Given the description of an element on the screen output the (x, y) to click on. 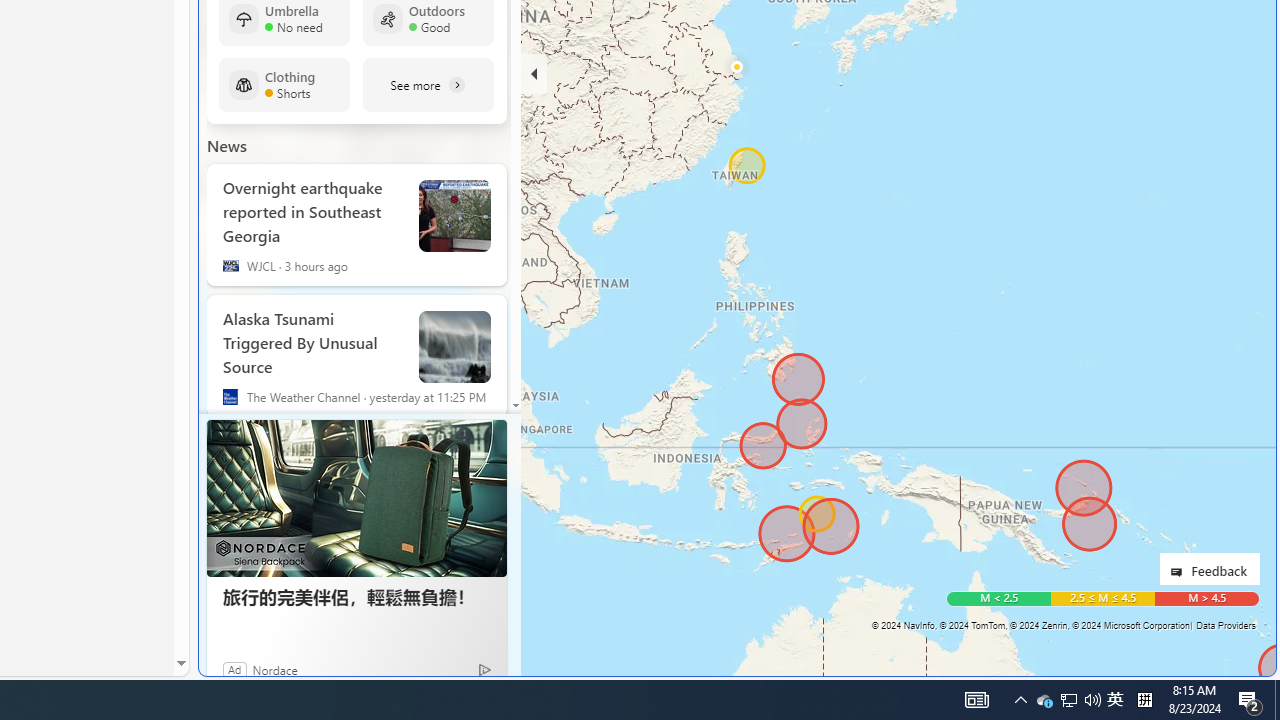
Ad (234, 669)
See more (428, 85)
WJCL (230, 265)
